Given the description of an element on the screen output the (x, y) to click on. 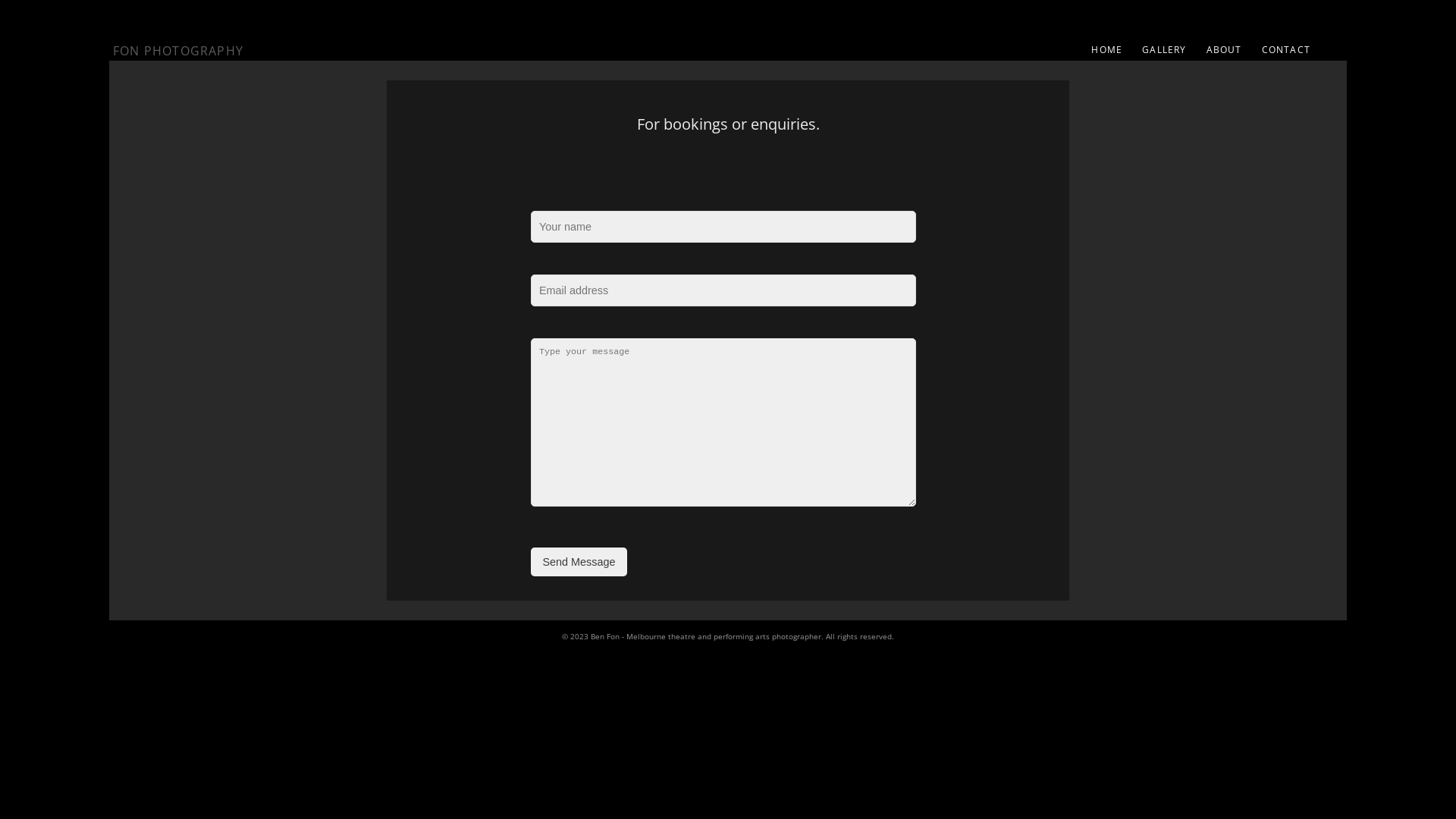
ABOUT Element type: text (1224, 49)
GALLERY Element type: text (1163, 49)
Send Message Element type: text (578, 561)
Instagram Element type: hover (1341, 54)
CONTACT Element type: text (1285, 49)
HOME Element type: text (1106, 49)
FON PHOTOGRAPHY Element type: text (177, 50)
